Given the description of an element on the screen output the (x, y) to click on. 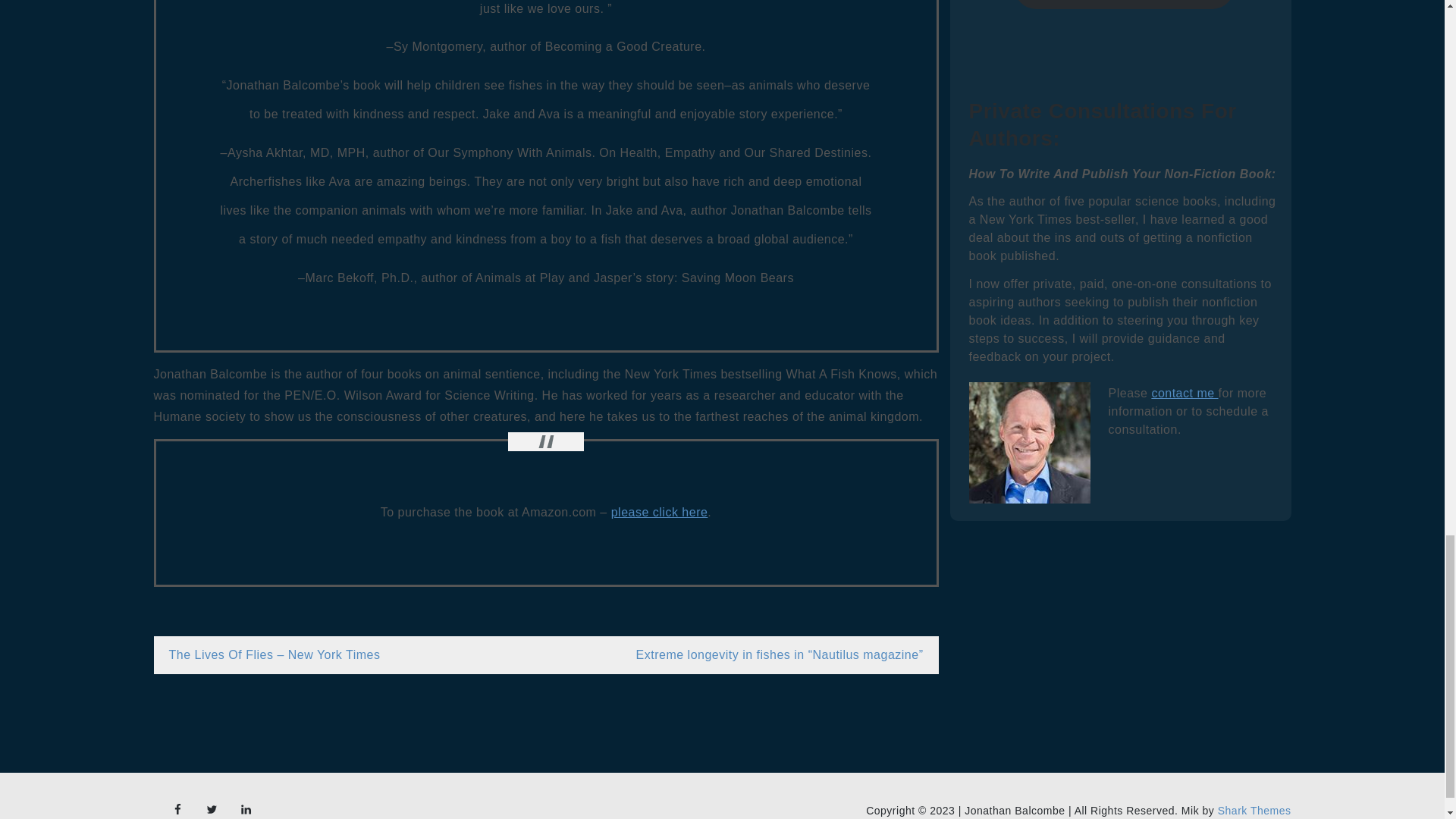
contact me (1184, 392)
please click here (659, 512)
Subscribe to All Things Fish and Fly (1123, 4)
